Given the description of an element on the screen output the (x, y) to click on. 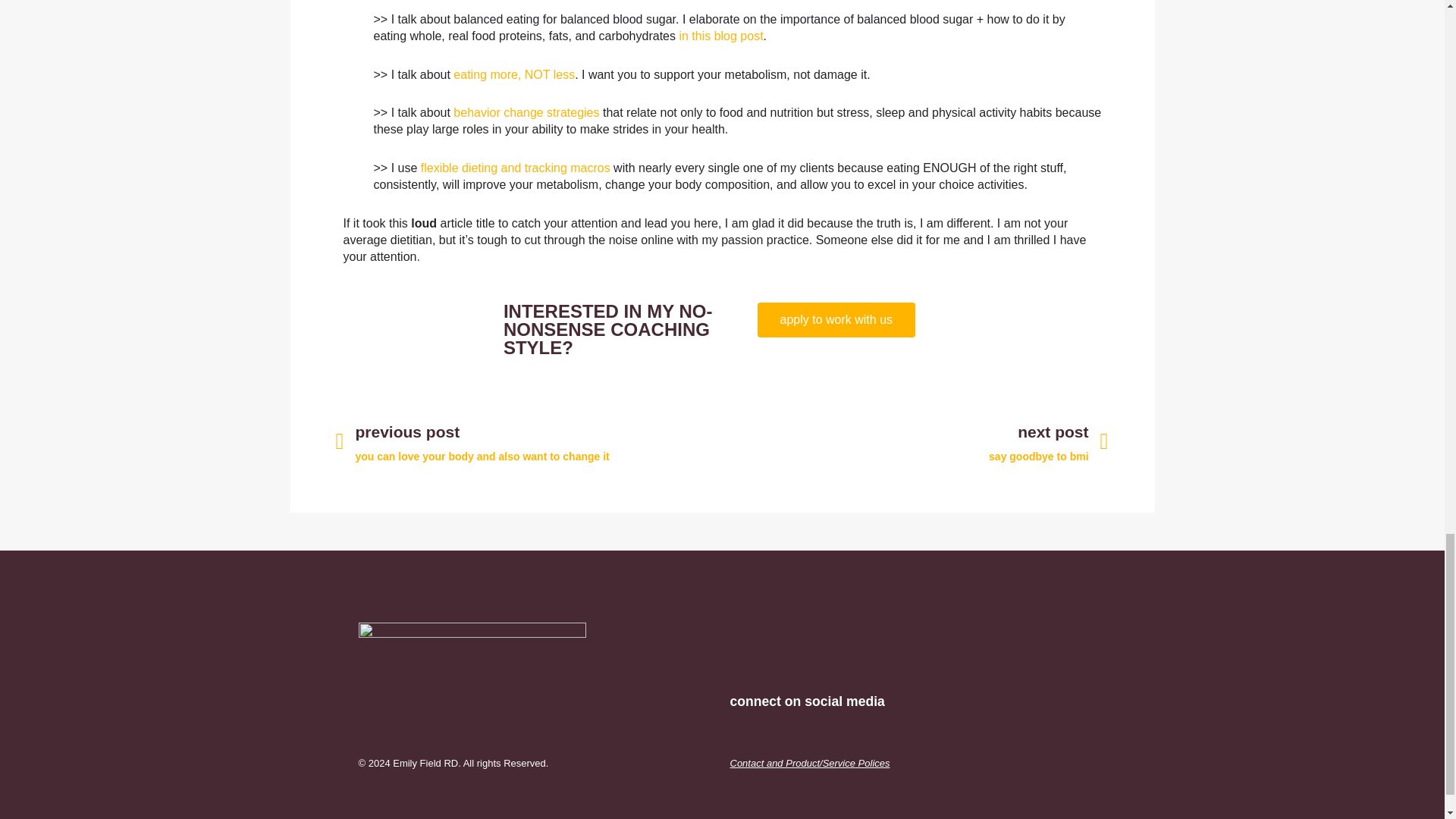
in this blog post (720, 35)
behavior change strategies (525, 112)
apply to work with us (836, 319)
eating more, NOT less (513, 74)
flexible dieting and tracking macros (915, 441)
